Given the description of an element on the screen output the (x, y) to click on. 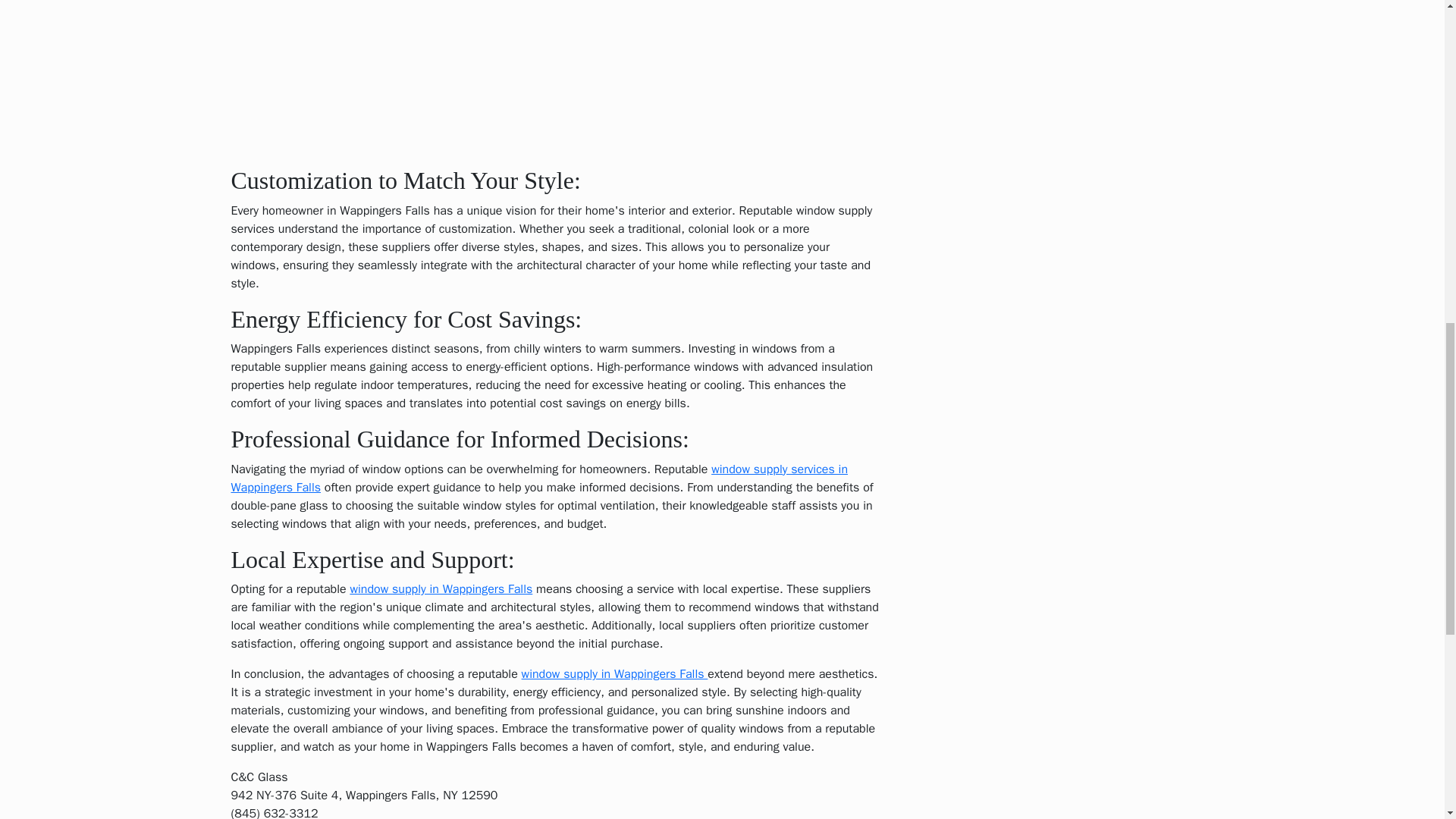
window supply in Wappingers Falls (440, 589)
window supply in Wappingers Falls (614, 673)
window supply services in Wappingers Falls (538, 478)
